Given the description of an element on the screen output the (x, y) to click on. 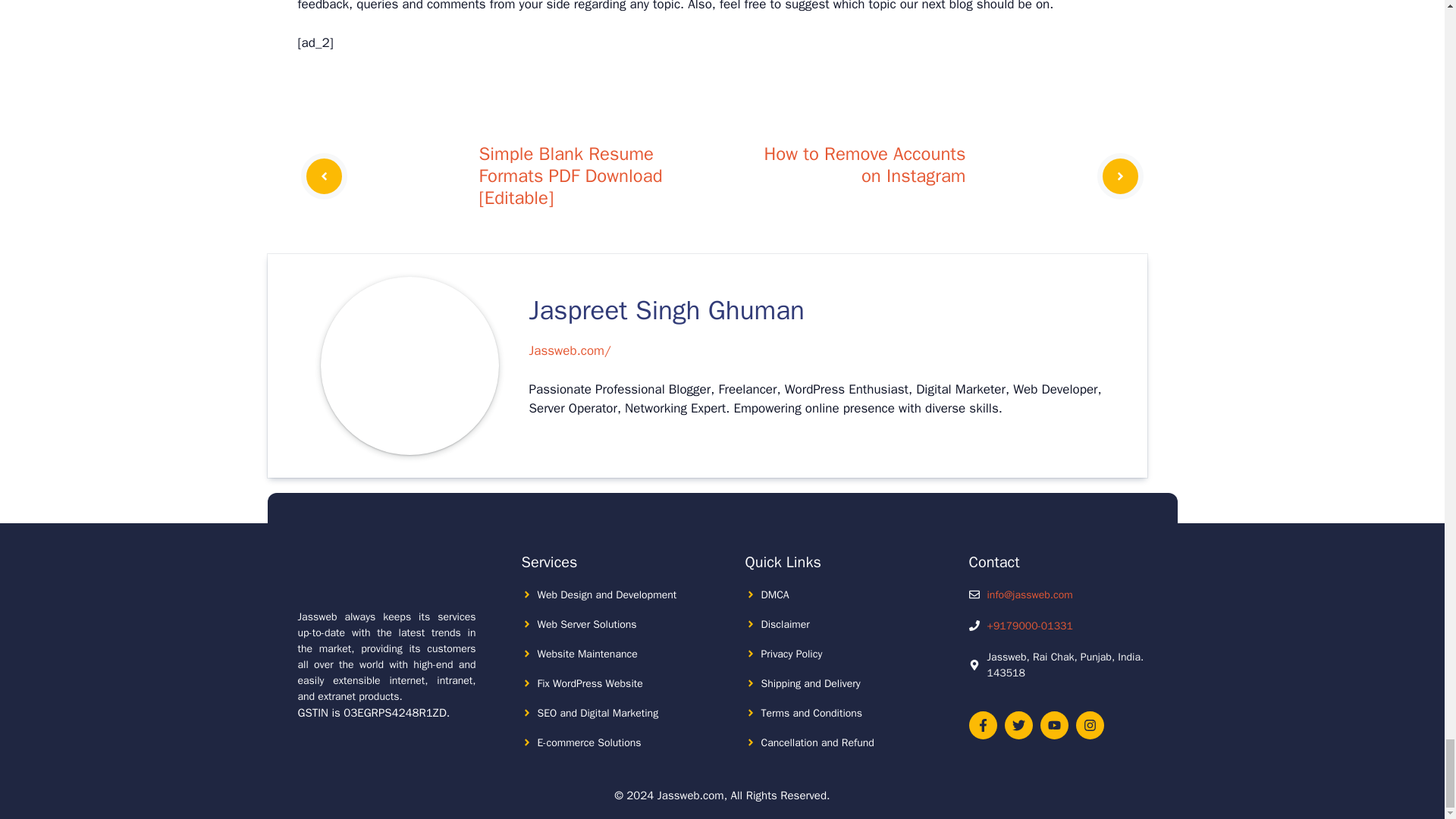
Web Design and Development (607, 594)
Web Server Solutions (586, 624)
SEO and Digital Marketing (597, 712)
Website Maintenance (587, 653)
Fix WordPress Website (589, 683)
How to Remove Accounts on Instagram (863, 164)
